Given the description of an element on the screen output the (x, y) to click on. 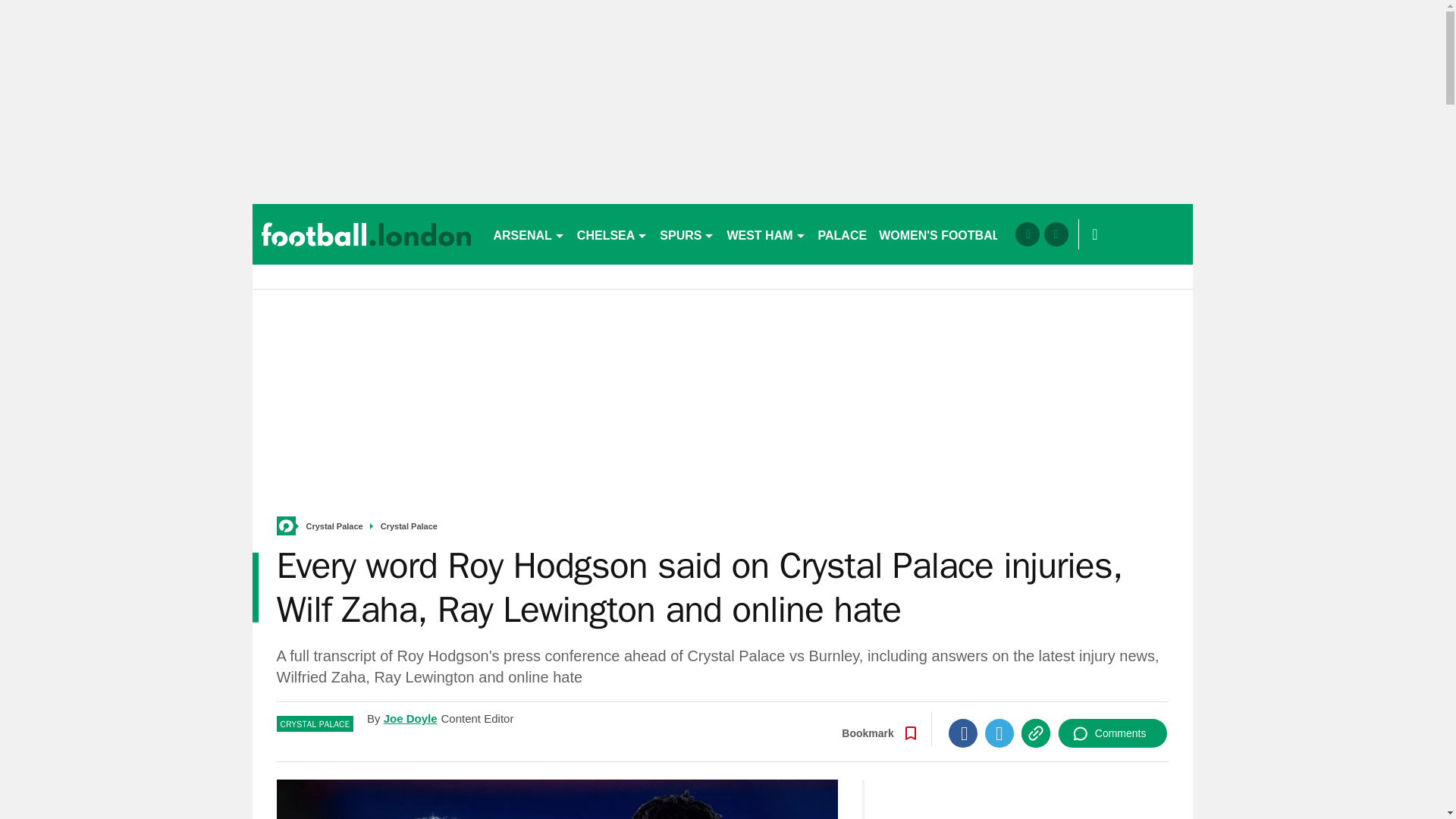
ARSENAL (528, 233)
Comments (1112, 733)
Twitter (999, 733)
SPURS (686, 233)
Facebook (962, 733)
facebook (1026, 233)
WEST HAM (765, 233)
footballlondon (365, 233)
PALACE (842, 233)
WOMEN'S FOOTBALL (942, 233)
